Given the description of an element on the screen output the (x, y) to click on. 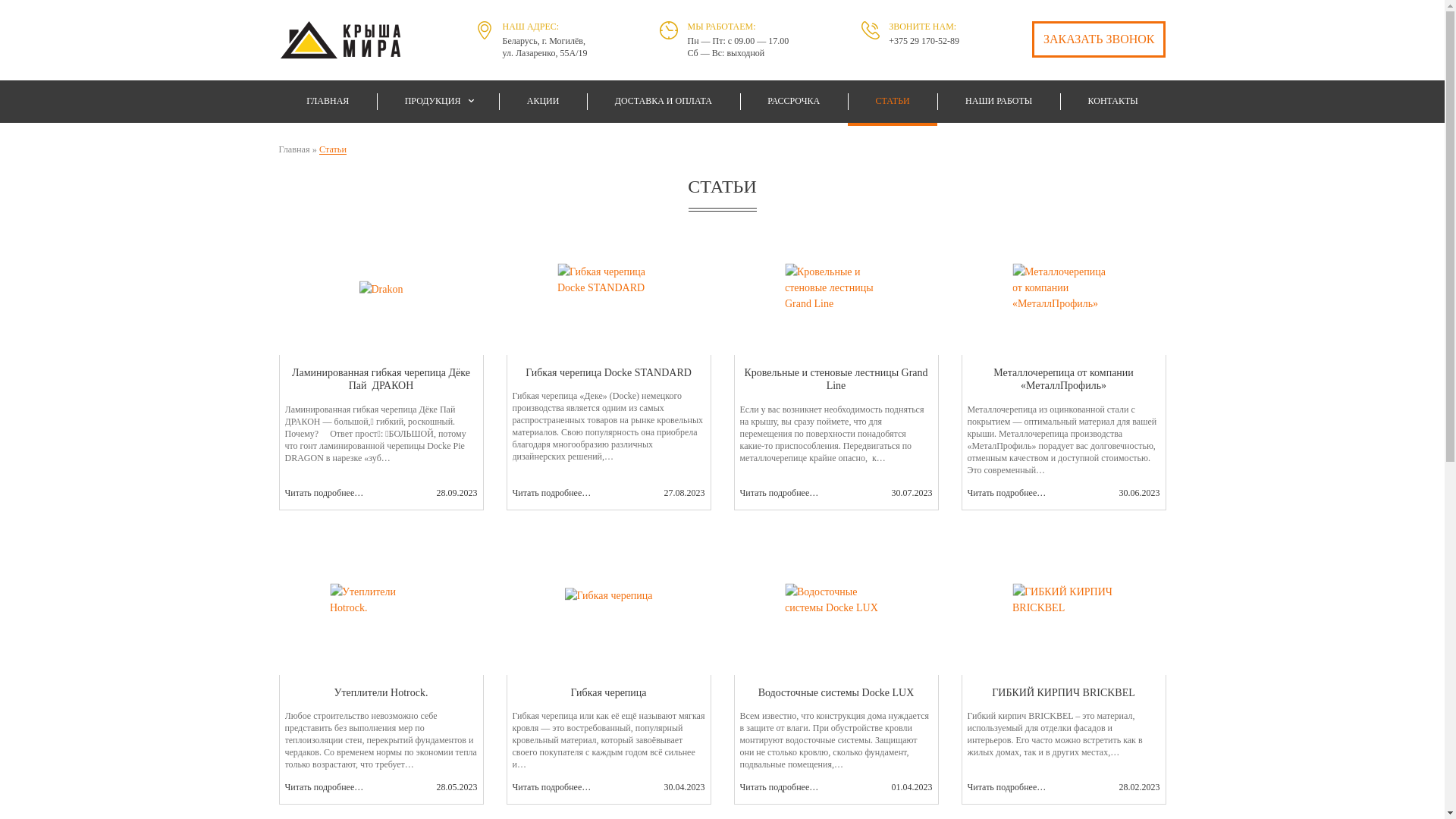
+375 29 170-52-89 Element type: text (923, 40)
